Given the description of an element on the screen output the (x, y) to click on. 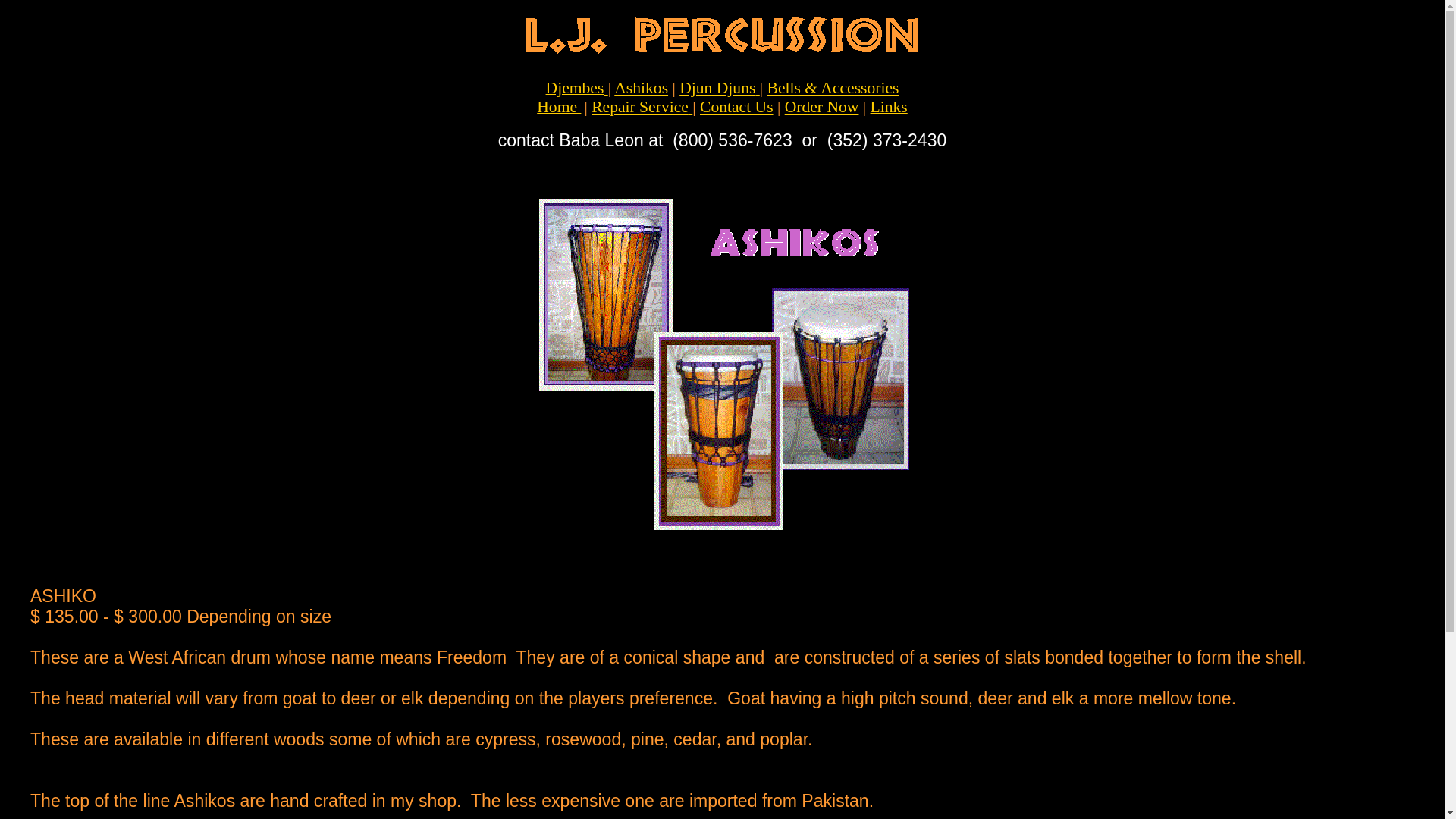
Ashikos (641, 87)
Contact L.J.Percussion (736, 106)
Djembes (575, 88)
Bells and Accessories (833, 87)
Home (558, 107)
Djun Djuns (717, 87)
Repair Service (639, 106)
Links (888, 107)
Djun Djuns (717, 87)
Djembes (575, 88)
